Given the description of an element on the screen output the (x, y) to click on. 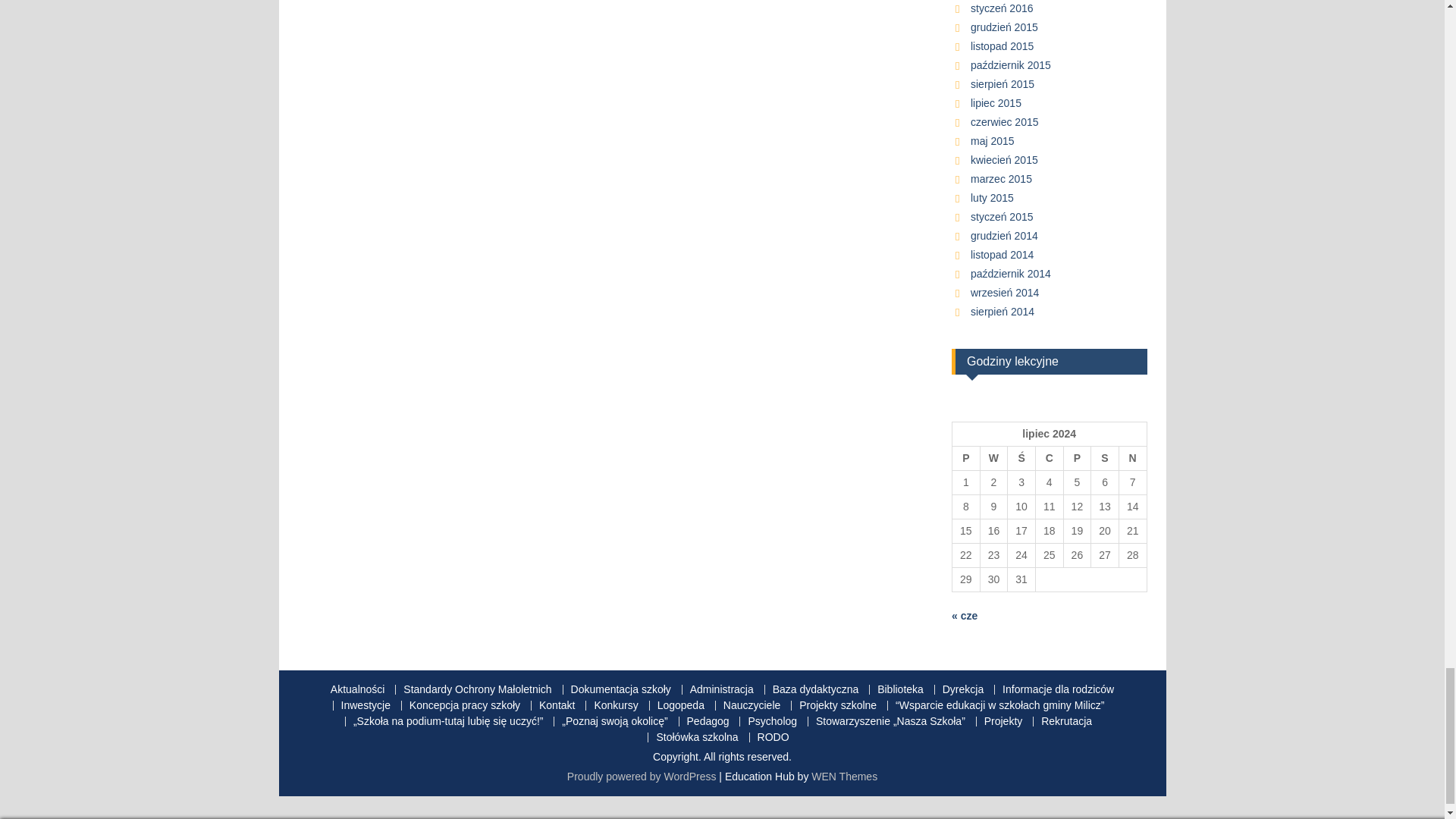
niedziela (1132, 457)
czwartek (1048, 457)
wtorek (993, 457)
sobota (1104, 457)
